Given the description of an element on the screen output the (x, y) to click on. 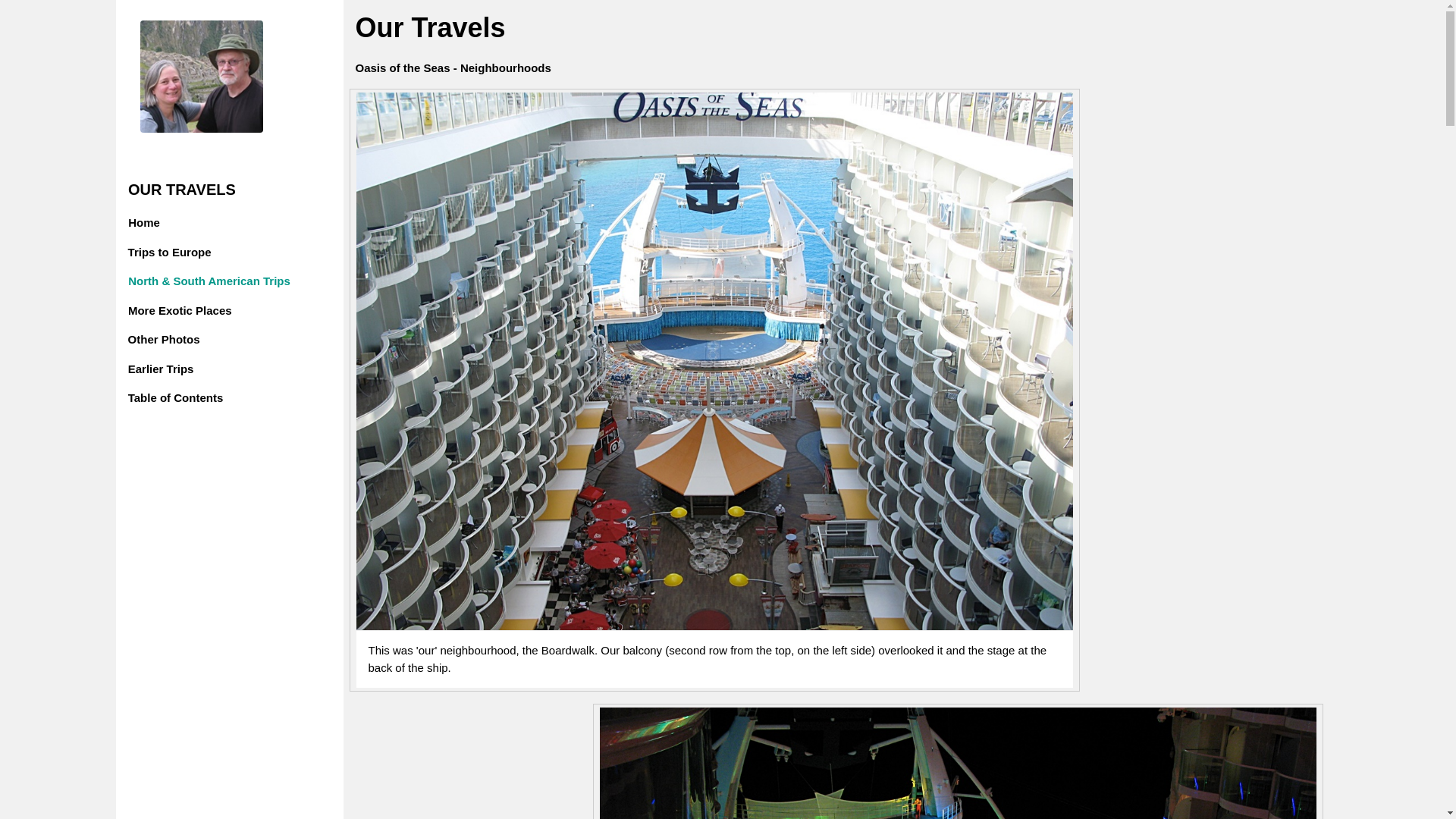
Earlier Trips (228, 369)
Trips to Europe (95, 252)
Home (85, 223)
More Exotic Places (109, 310)
Other Photos (113, 339)
Table of Contents (228, 398)
